Given the description of an element on the screen output the (x, y) to click on. 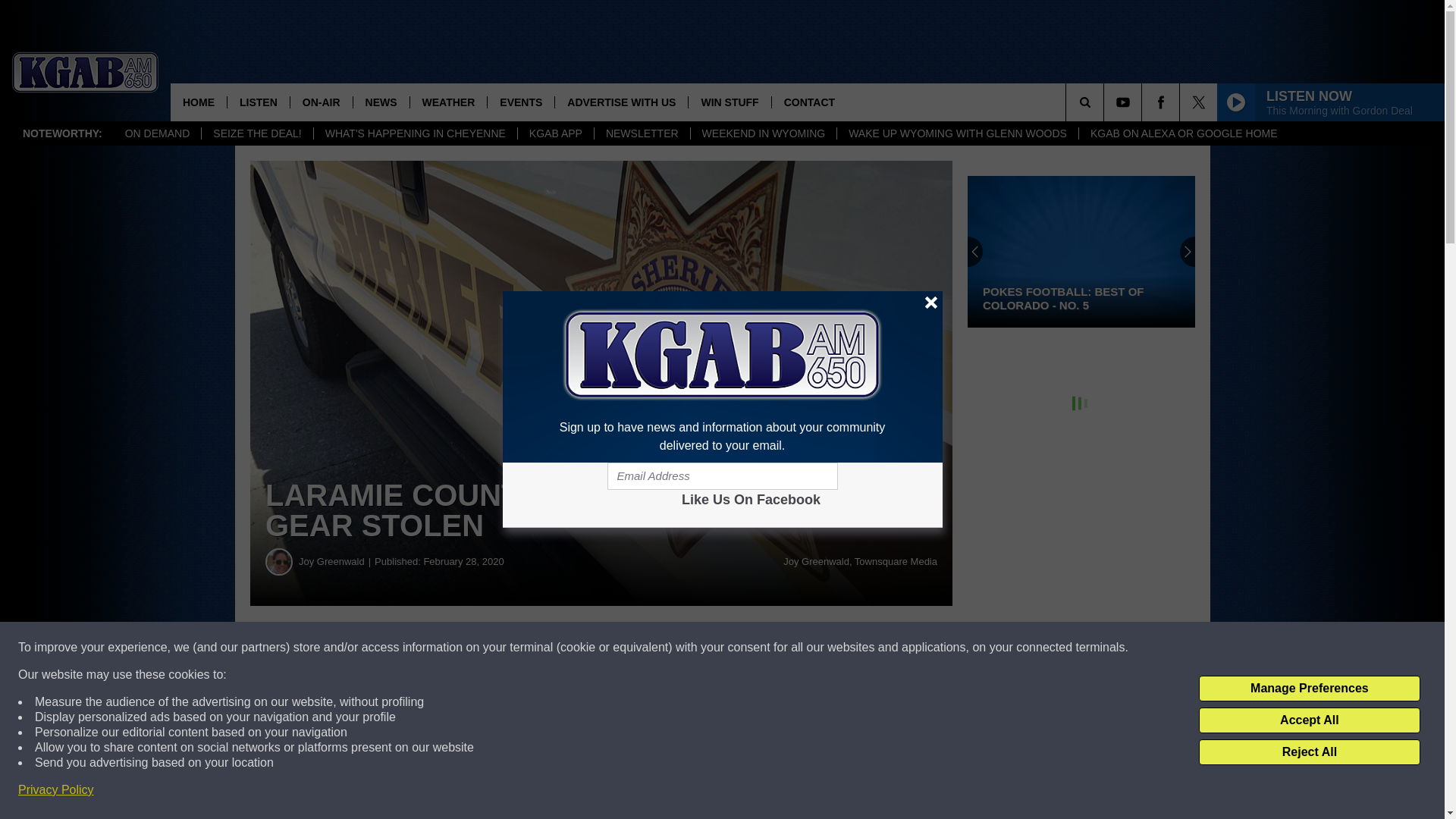
ON-AIR (320, 102)
KGAB ON ALEXA OR GOOGLE HOME (1183, 133)
LISTEN (258, 102)
SEIZE THE DEAL! (256, 133)
Privacy Policy (55, 789)
Manage Preferences (1309, 688)
SEARCH (1106, 102)
Accept All (1309, 720)
Reject All (1309, 751)
WEEKEND IN WYOMING (763, 133)
SEARCH (1106, 102)
WHAT'S HAPPENING IN CHEYENNE (414, 133)
NOTEWORTHY: (62, 133)
NEWSLETTER (642, 133)
KGAB APP (555, 133)
